Given the description of an element on the screen output the (x, y) to click on. 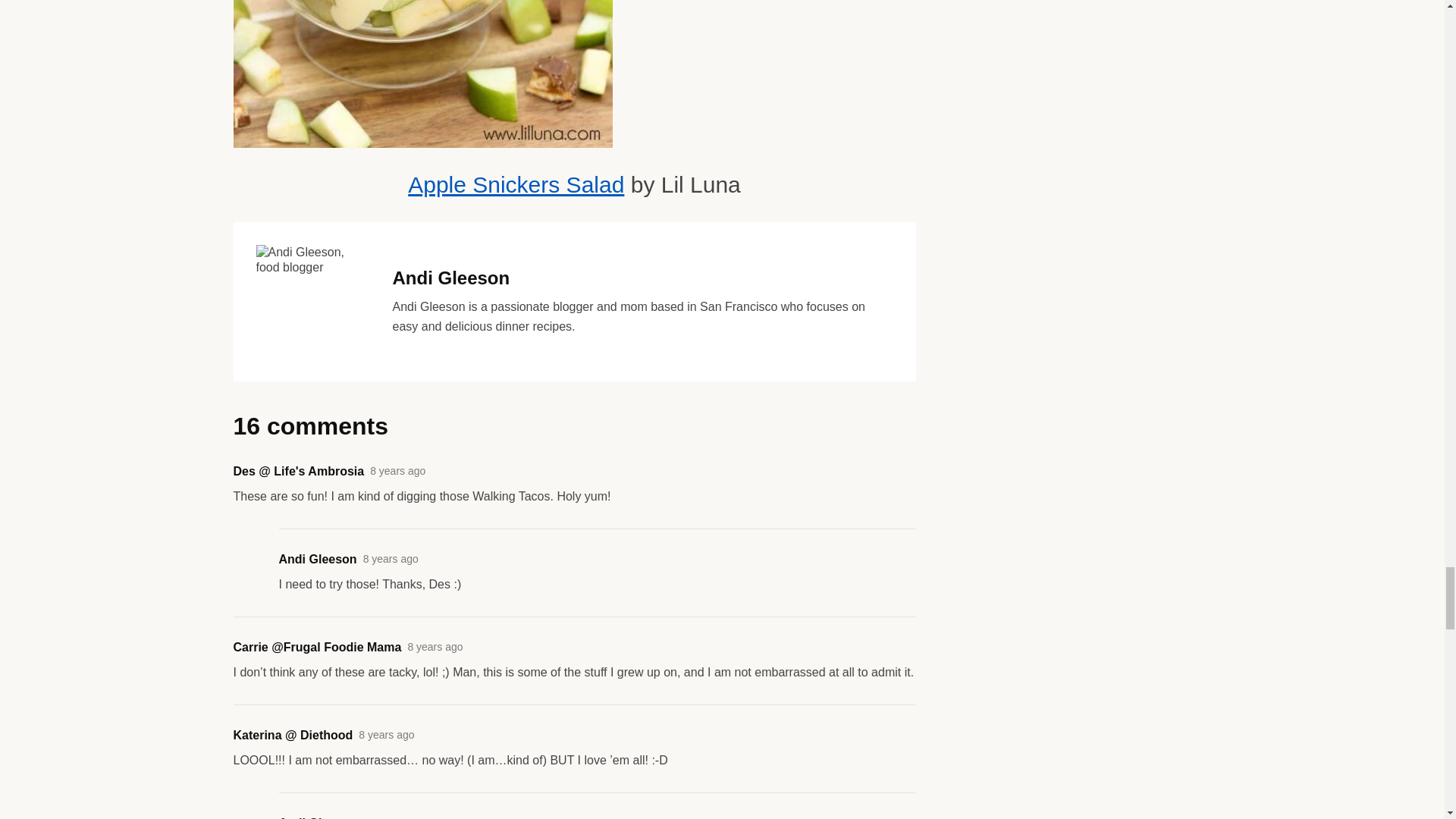
Apple Snickers Salad (515, 184)
